Given the description of an element on the screen output the (x, y) to click on. 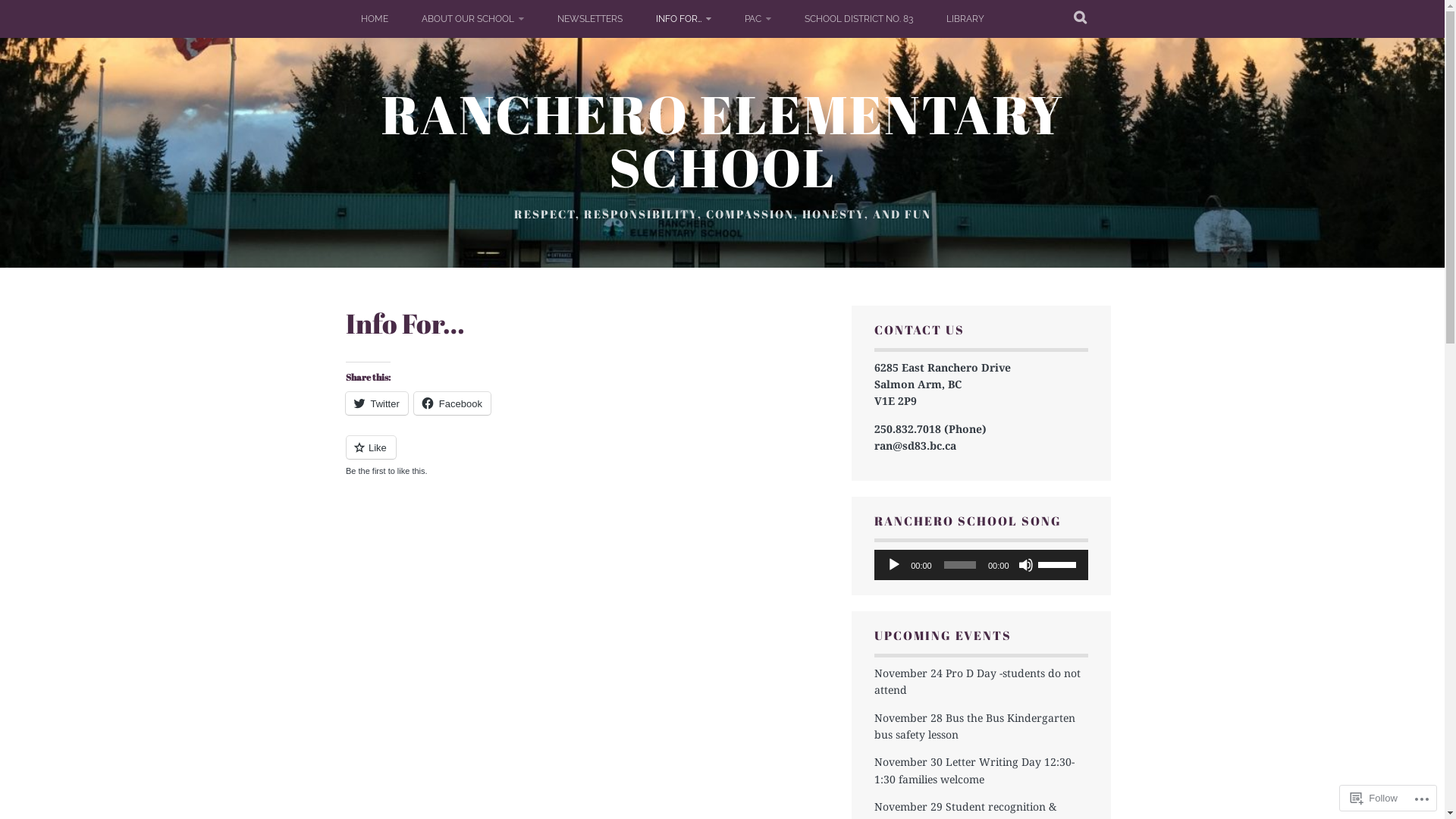
PAC Element type: text (757, 18)
SCHOOL DISTRICT NO. 83 Element type: text (857, 18)
NEWSLETTERS Element type: text (589, 18)
Play Element type: hover (893, 564)
Like or Reblog Element type: hover (586, 455)
Use Up/Down Arrow keys to increase or decrease volume. Element type: text (1058, 563)
ABOUT OUR SCHOOL Element type: text (472, 18)
RANCHERO ELEMENTARY SCHOOL Element type: text (721, 140)
Mute Element type: hover (1024, 564)
Facebook Element type: text (452, 403)
Follow Element type: text (1373, 797)
Twitter Element type: text (376, 403)
LIBRARY Element type: text (965, 18)
HOME Element type: text (374, 18)
